Given the description of an element on the screen output the (x, y) to click on. 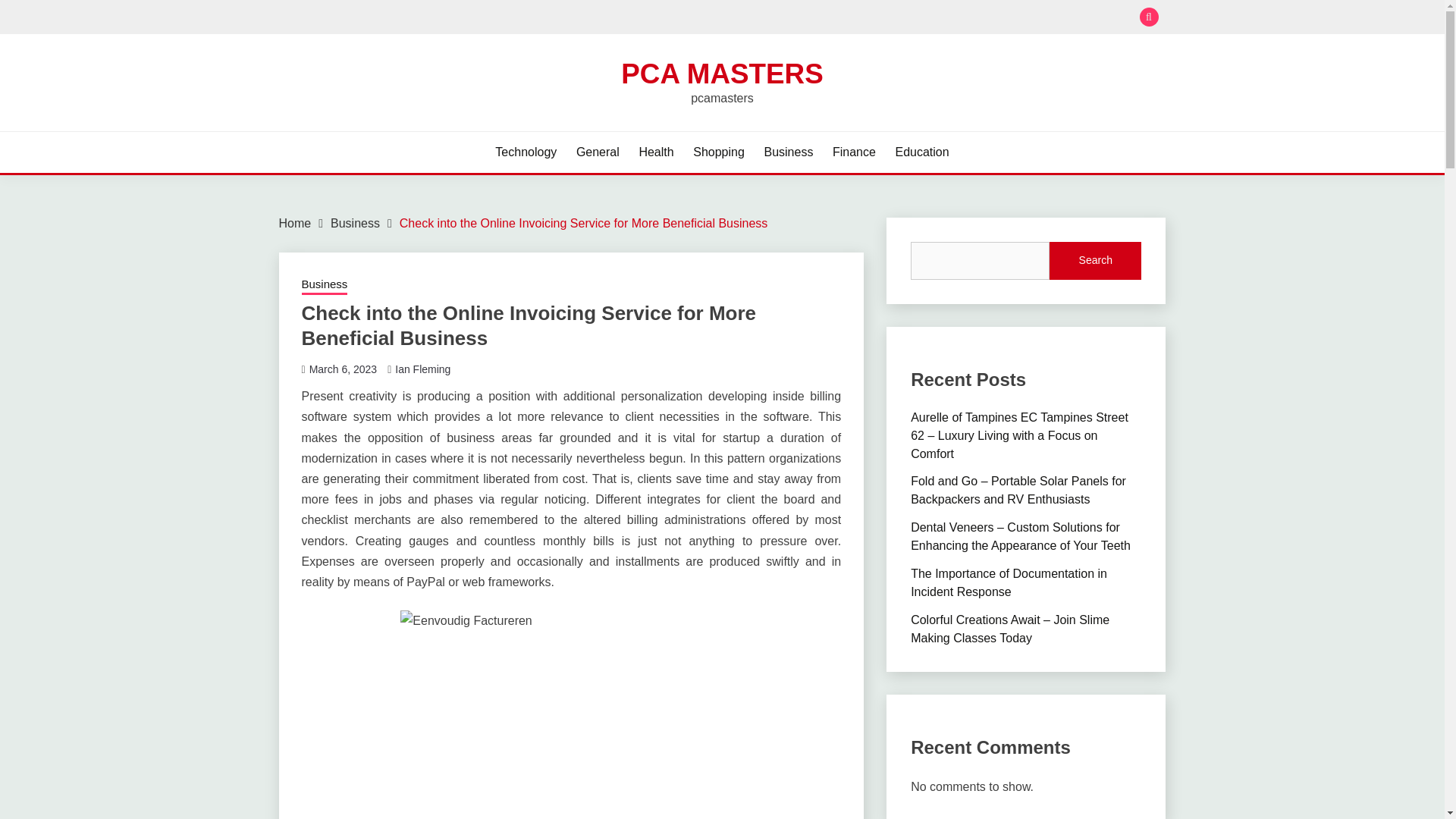
Ian Fleming (421, 369)
Technology (525, 152)
Home (295, 223)
Business (324, 285)
PCA MASTERS (721, 73)
Shopping (718, 152)
The Importance of Documentation in Incident Response (1008, 582)
Search (832, 18)
March 6, 2023 (342, 369)
Health (655, 152)
Education (922, 152)
Business (355, 223)
Finance (854, 152)
Search (1095, 260)
